Given the description of an element on the screen output the (x, y) to click on. 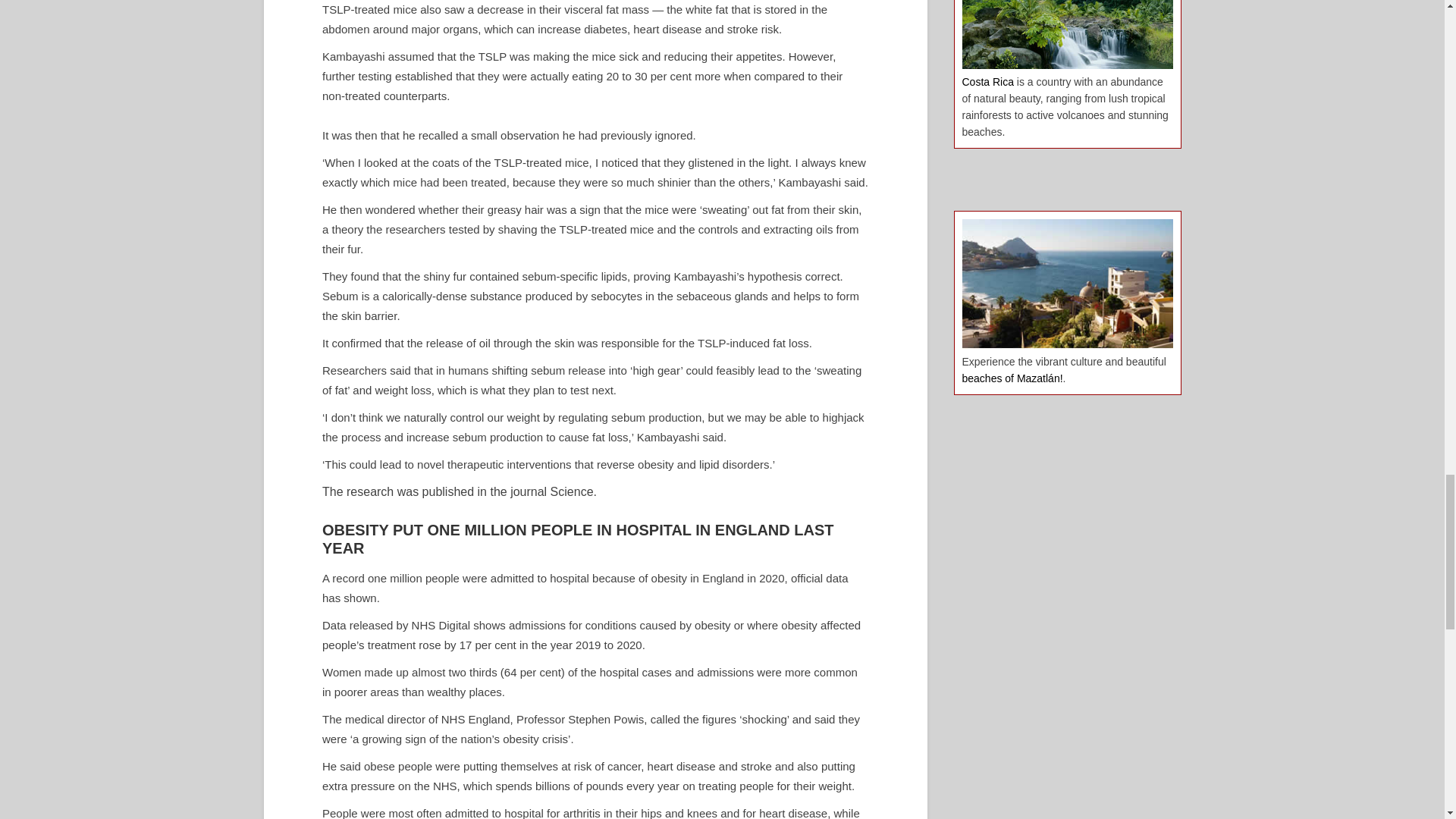
Costa Rica (986, 81)
